Given the description of an element on the screen output the (x, y) to click on. 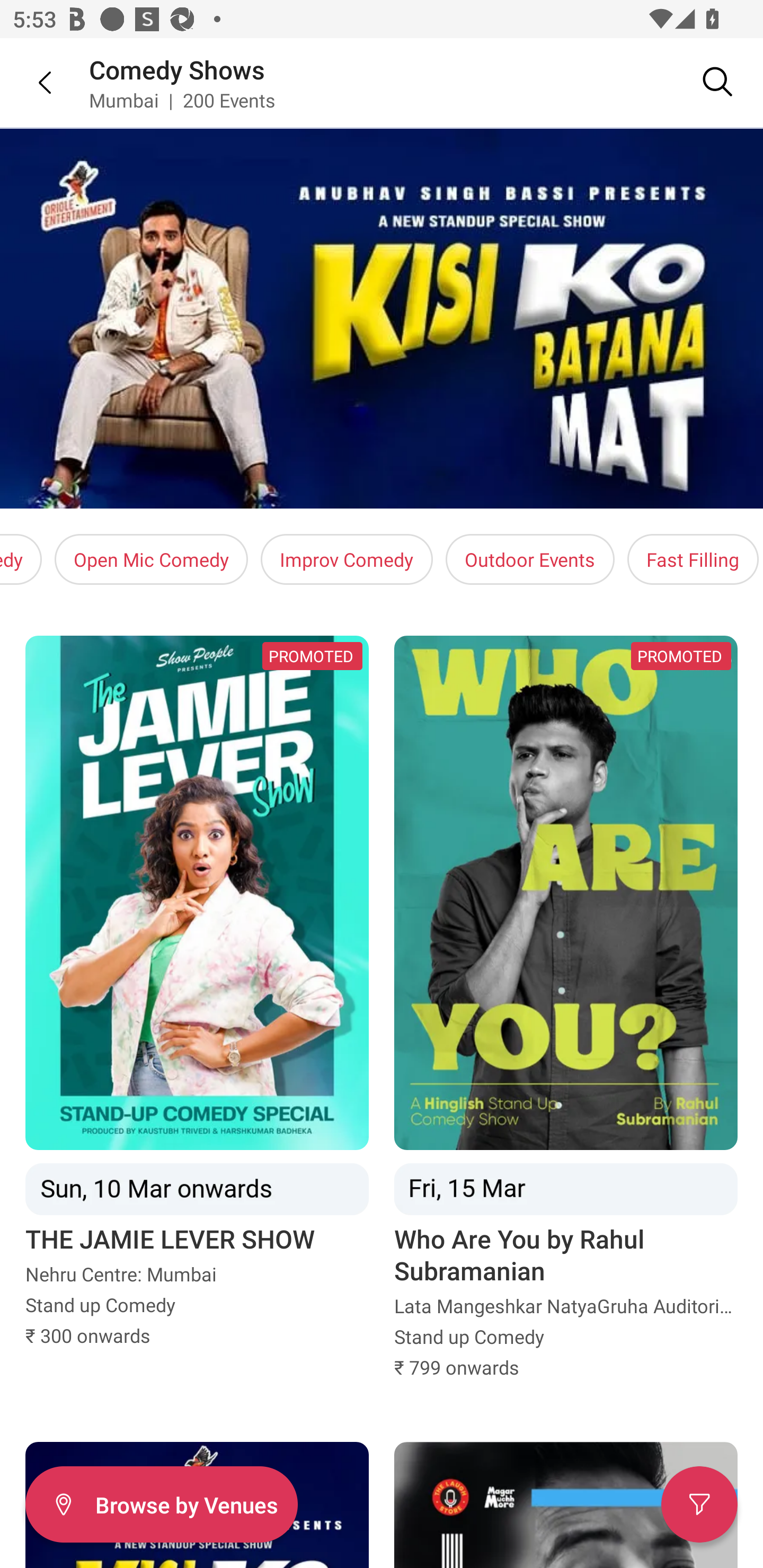
Back (31, 82)
Comedy Shows (176, 68)
Mumbai  |  200 Events (182, 99)
Open Mic Comedy (150, 559)
Improv Comedy (346, 559)
Outdoor Events (529, 559)
Fast Filling (692, 559)
Filter Browse by Venues (161, 1504)
Filter (699, 1504)
